Given the description of an element on the screen output the (x, y) to click on. 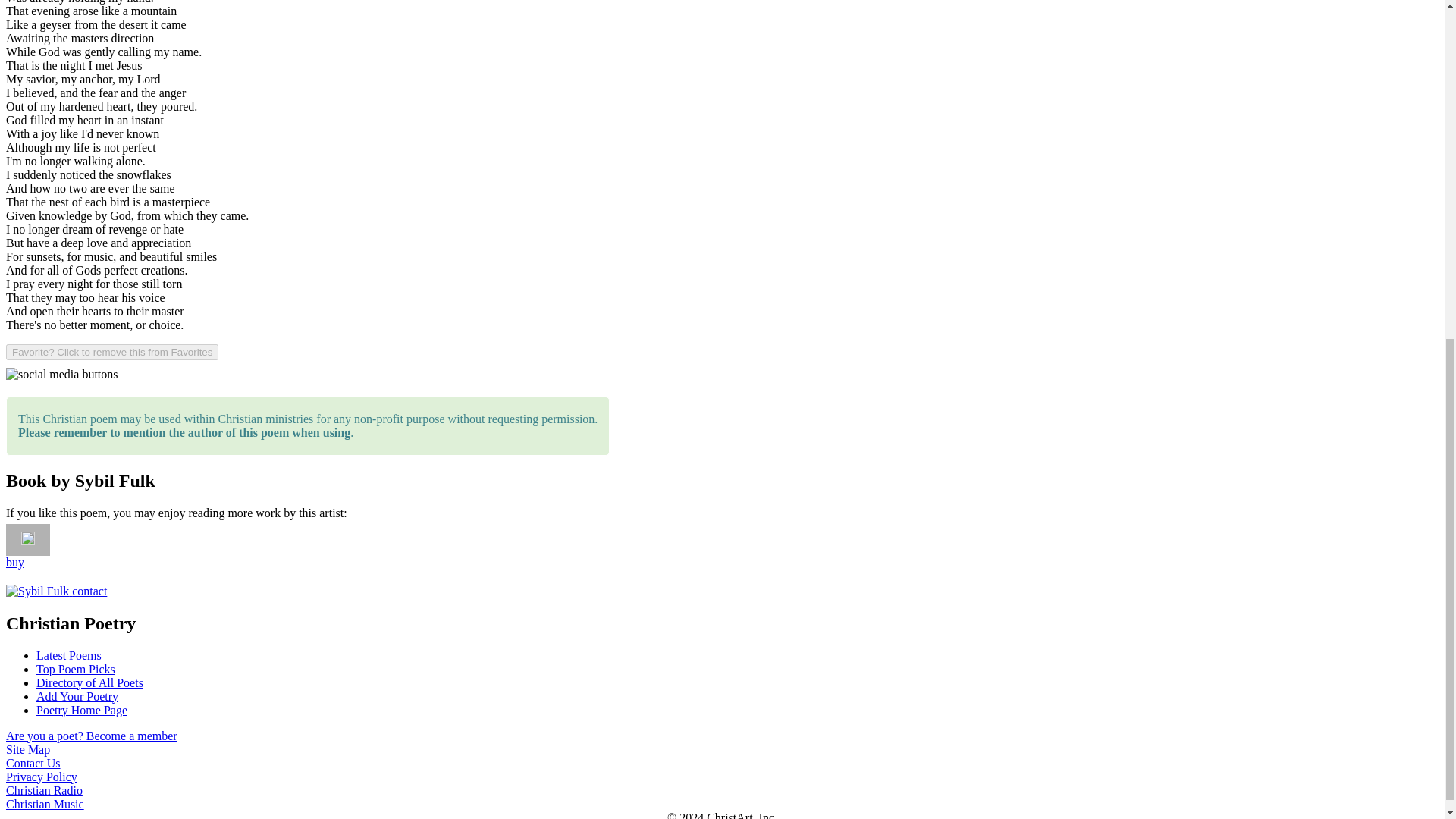
buy (14, 562)
Christian Music (44, 802)
Add Your Poetry (76, 695)
Top Poem Picks (75, 667)
Christian Radio (43, 789)
contact (88, 590)
Site Map (27, 748)
Latest Poems (68, 654)
Are you a poet? Become a member (91, 735)
Directory of All Poets (89, 681)
Contact Us (33, 762)
Privacy Policy (41, 775)
Contact artist Sybil Fulk (36, 591)
Favorite? Click to remove this from Favorites (111, 351)
Poetry Home Page (82, 708)
